Given the description of an element on the screen output the (x, y) to click on. 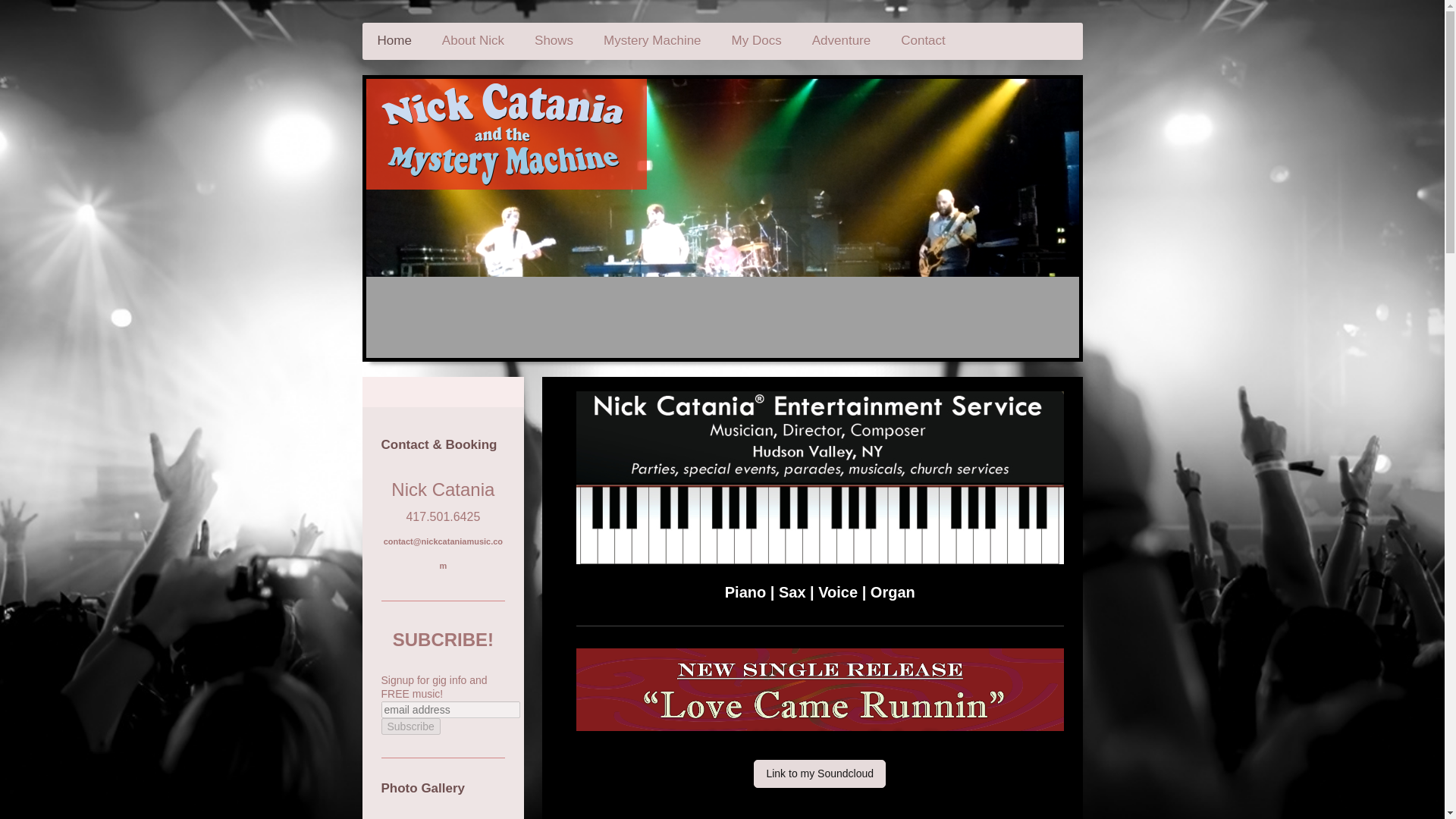
Shows (553, 40)
Subscribe (409, 726)
Adventure (841, 40)
About Nick (472, 40)
My Docs (756, 40)
Link to my Soundcloud (819, 773)
Home (394, 40)
Subscribe (409, 726)
Mystery Machine (652, 40)
Contact (922, 40)
